Given the description of an element on the screen output the (x, y) to click on. 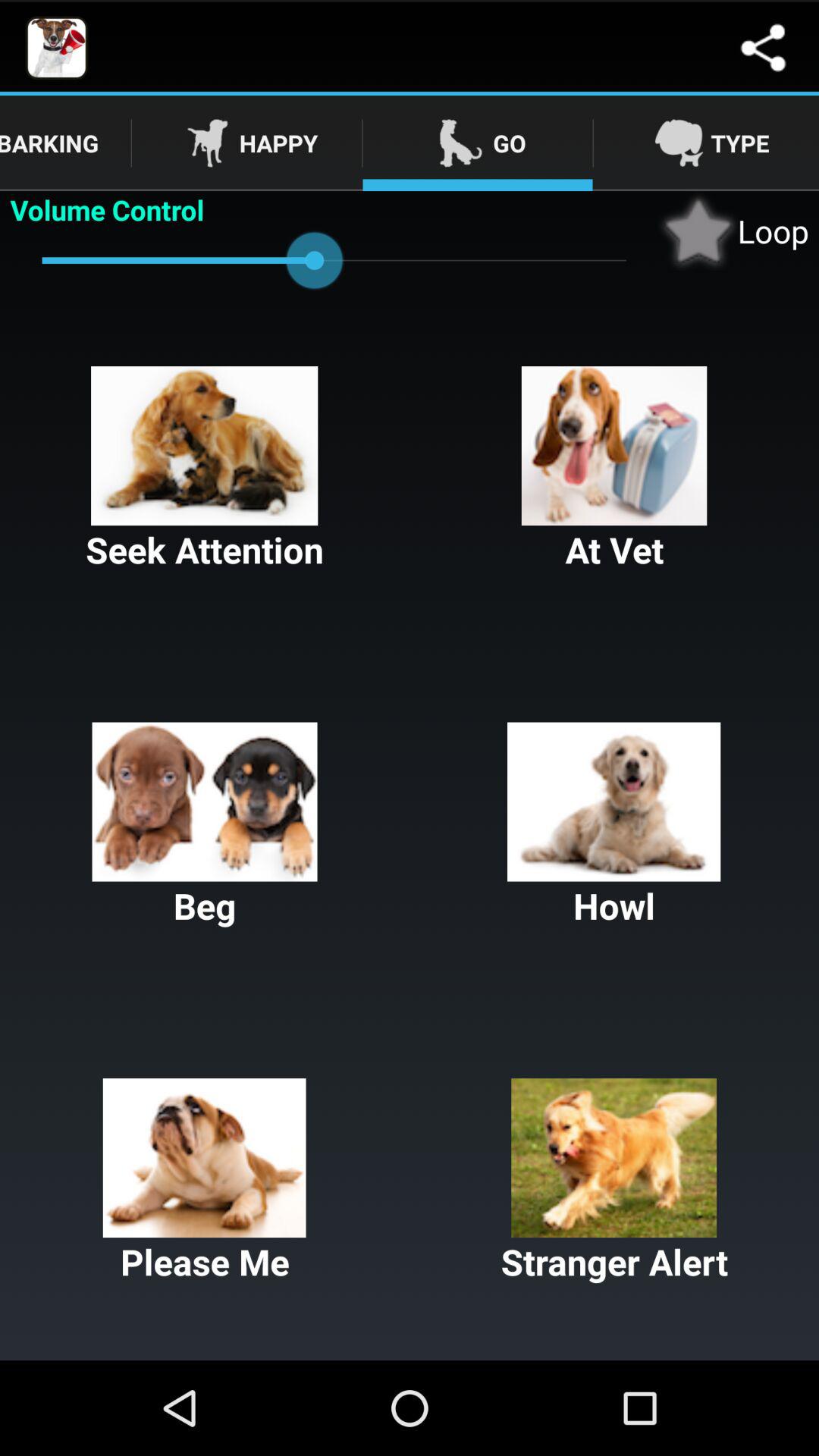
turn on icon to the right of volume control (733, 230)
